Given the description of an element on the screen output the (x, y) to click on. 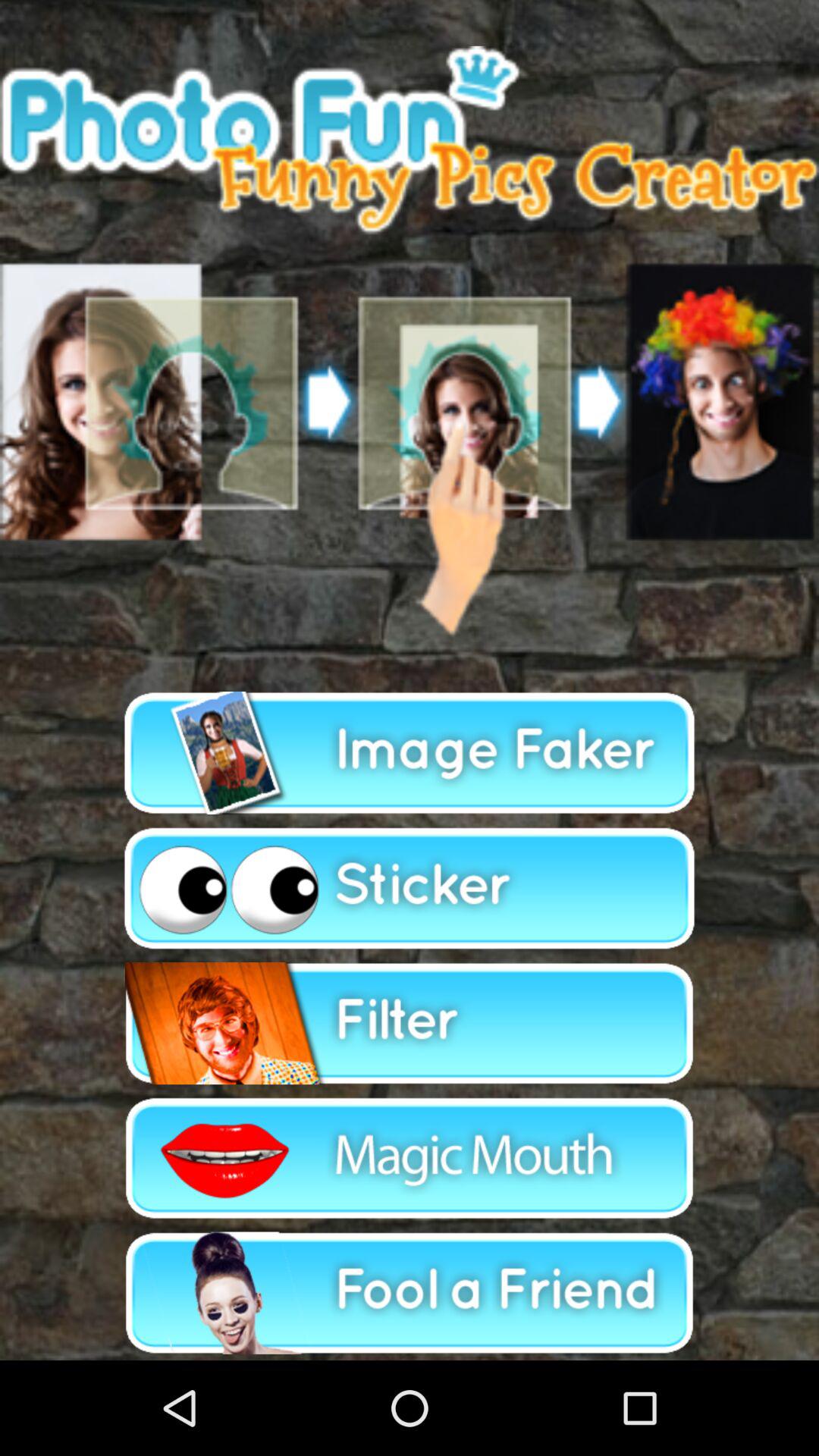
editing options (409, 1292)
